Given the description of an element on the screen output the (x, y) to click on. 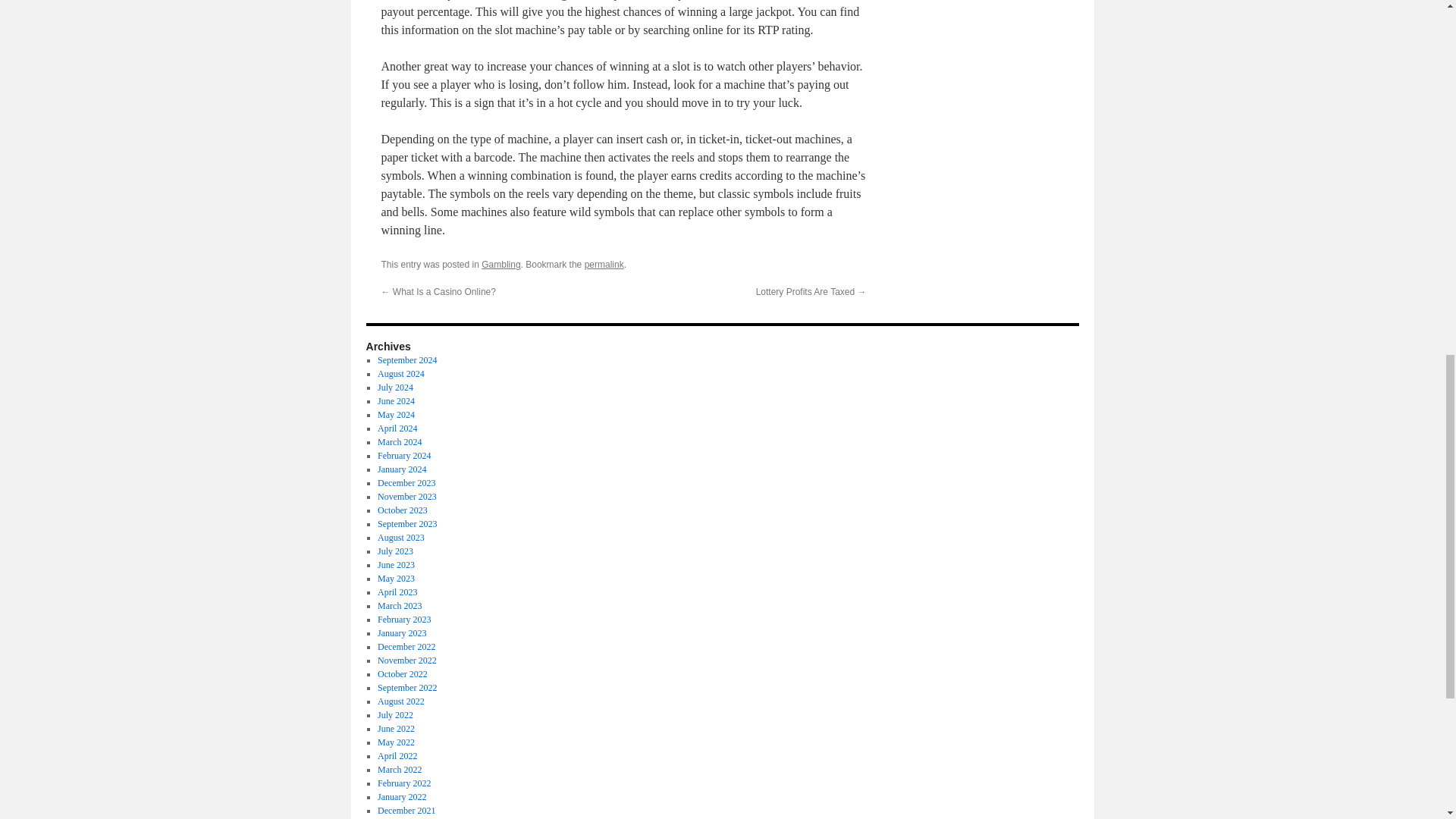
June 2023 (395, 564)
May 2023 (395, 578)
February 2023 (403, 619)
July 2024 (395, 387)
August 2024 (401, 373)
August 2023 (401, 537)
permalink (604, 264)
January 2023 (401, 633)
February 2024 (403, 455)
January 2024 (401, 469)
